Given the description of an element on the screen output the (x, y) to click on. 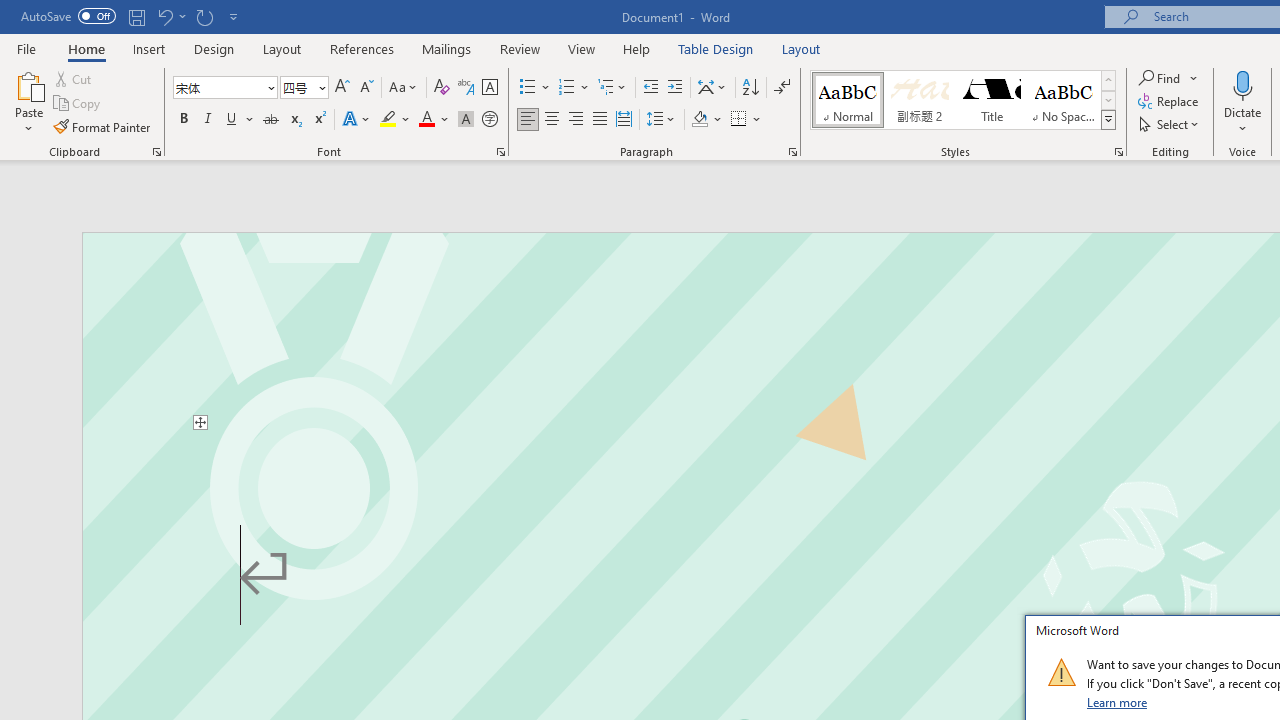
Undo Text Fill Effect (164, 15)
